Given the description of an element on the screen output the (x, y) to click on. 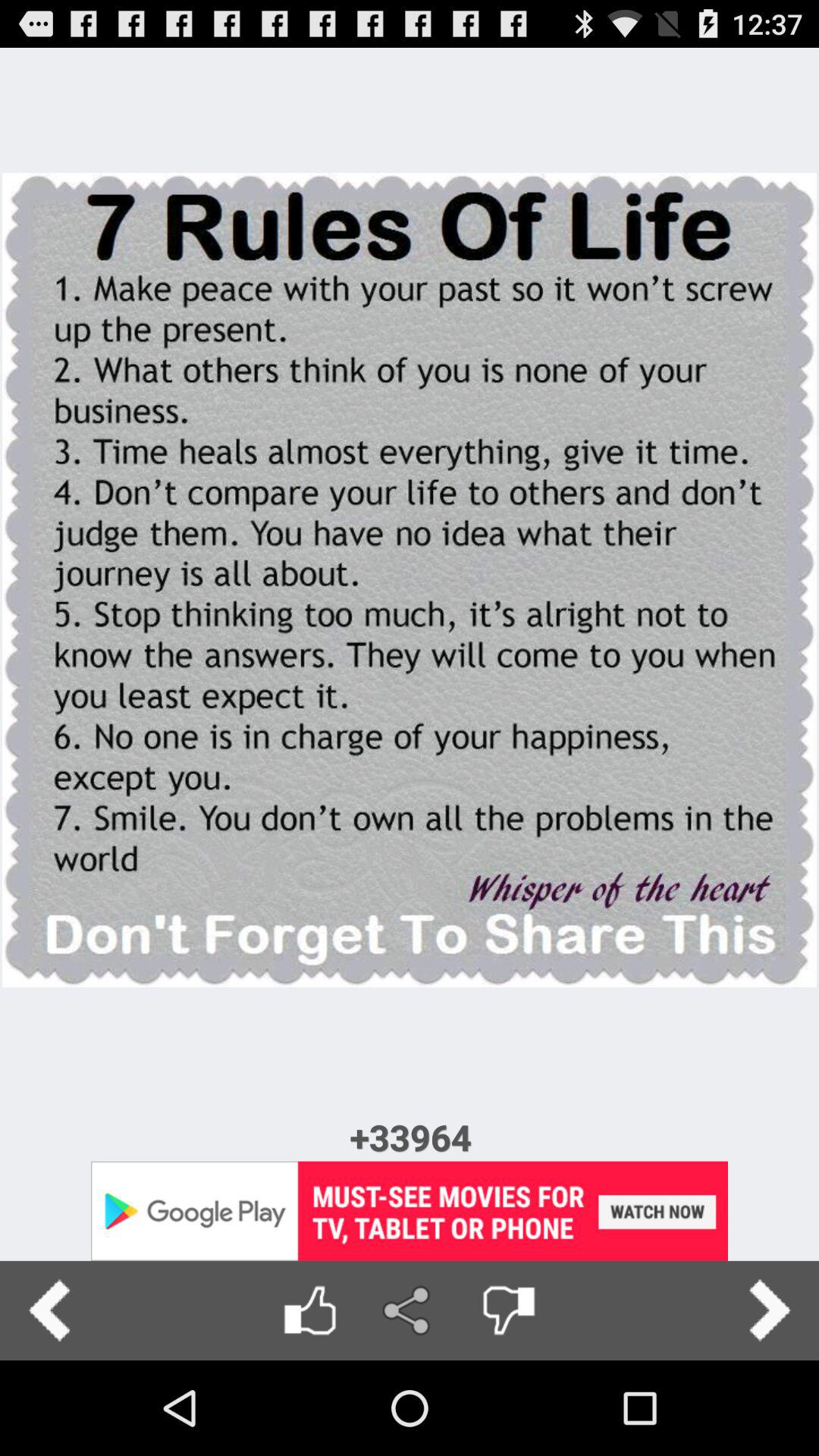
go to the next (769, 1310)
